Given the description of an element on the screen output the (x, y) to click on. 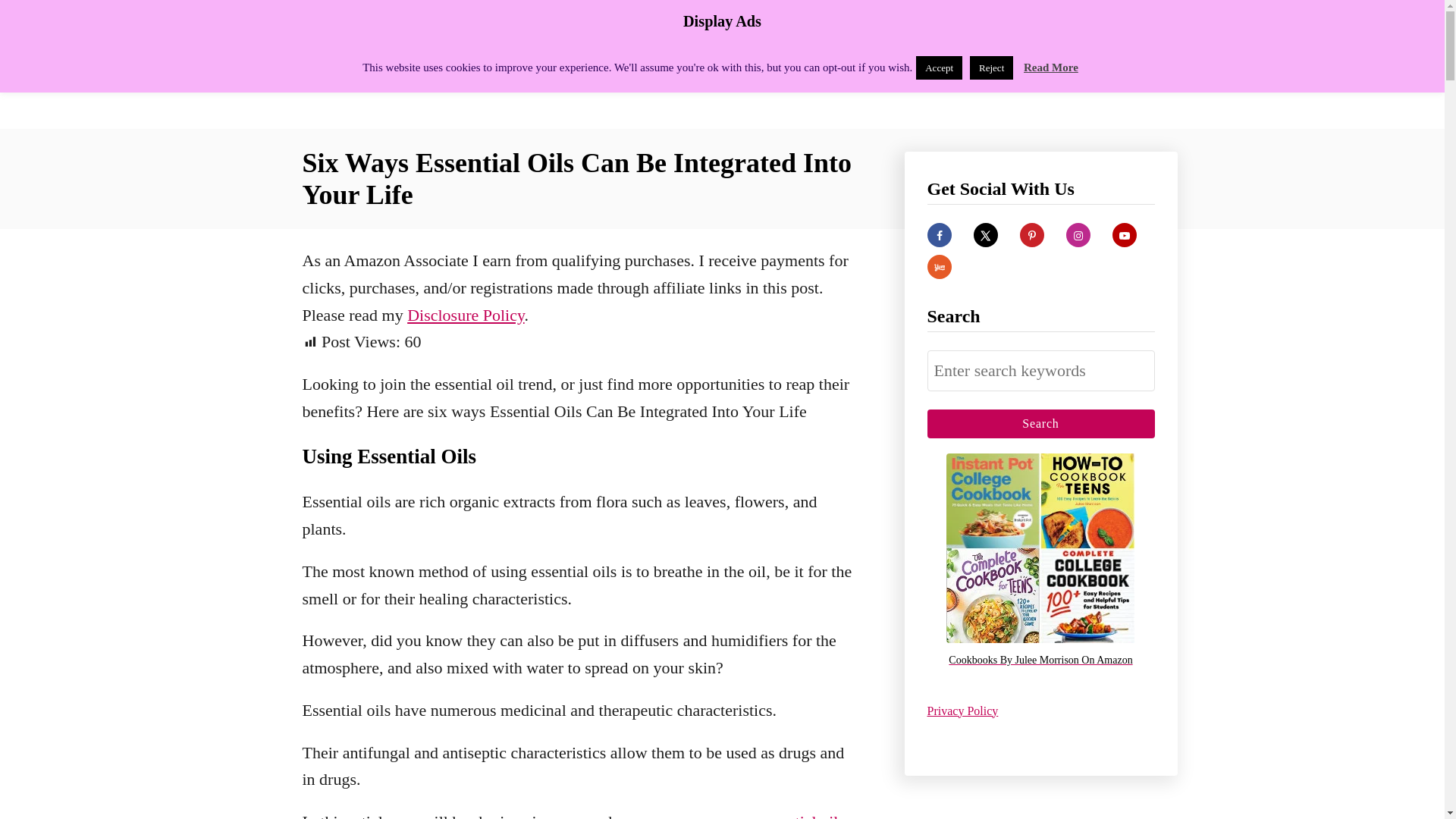
Follow on Facebook (938, 234)
Search (1040, 423)
Follow on Pinterest (1031, 234)
essential oil (798, 815)
Follow on X (985, 234)
Search (1040, 423)
Follow on Instagram (1077, 234)
Cookbooks By Julee Morrison On Amazon (1040, 660)
Search (1040, 423)
Follow on YouTube (1124, 234)
Follow on Yummly (938, 266)
Search for: (1040, 370)
Disclosure Policy (465, 313)
Mommy's Memorandum (433, 64)
